Given the description of an element on the screen output the (x, y) to click on. 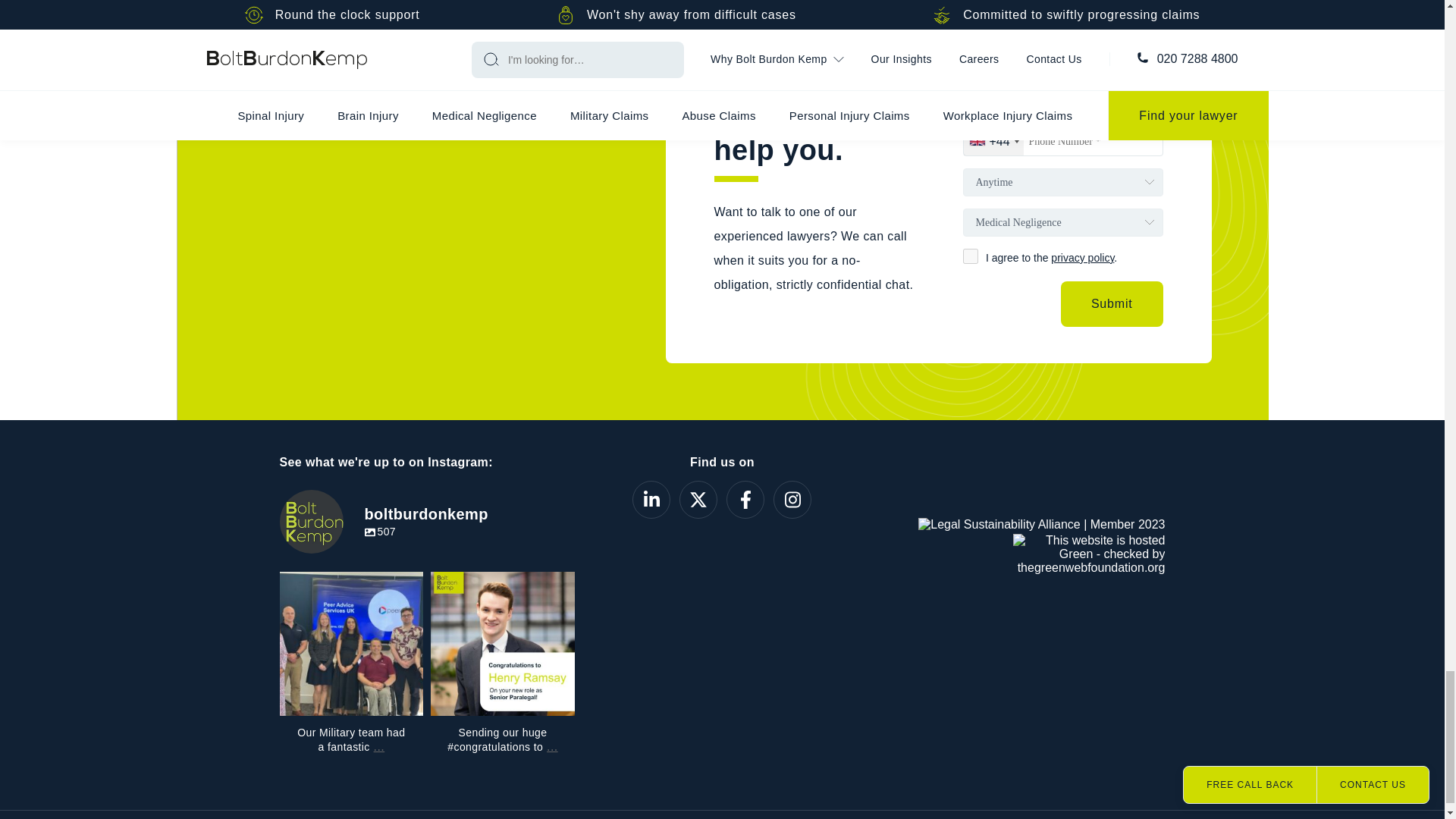
1 (970, 255)
United Kingdom (992, 141)
Submit (1112, 303)
